Given the description of an element on the screen output the (x, y) to click on. 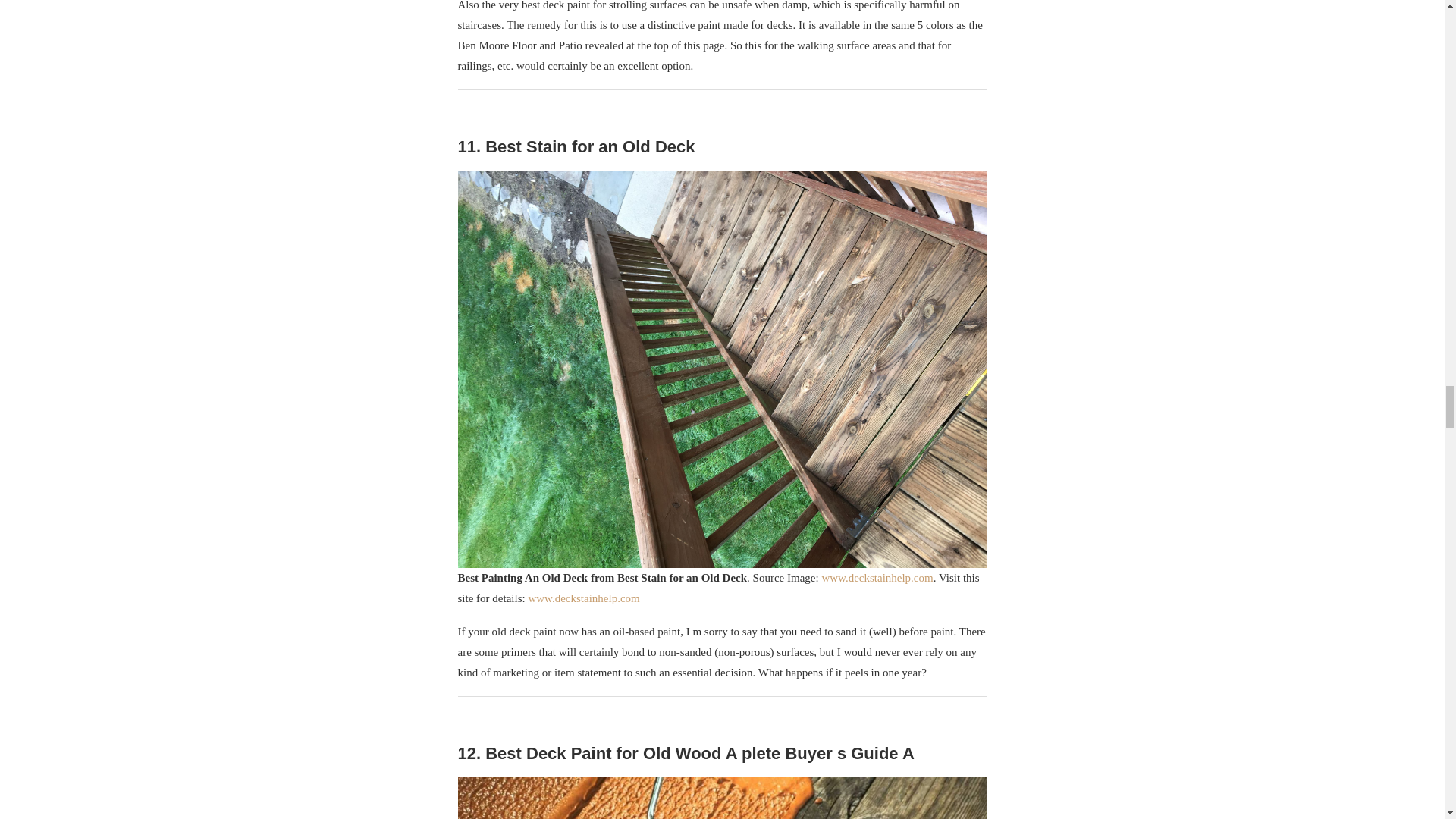
best deck paint for old wood (722, 798)
